Given the description of an element on the screen output the (x, y) to click on. 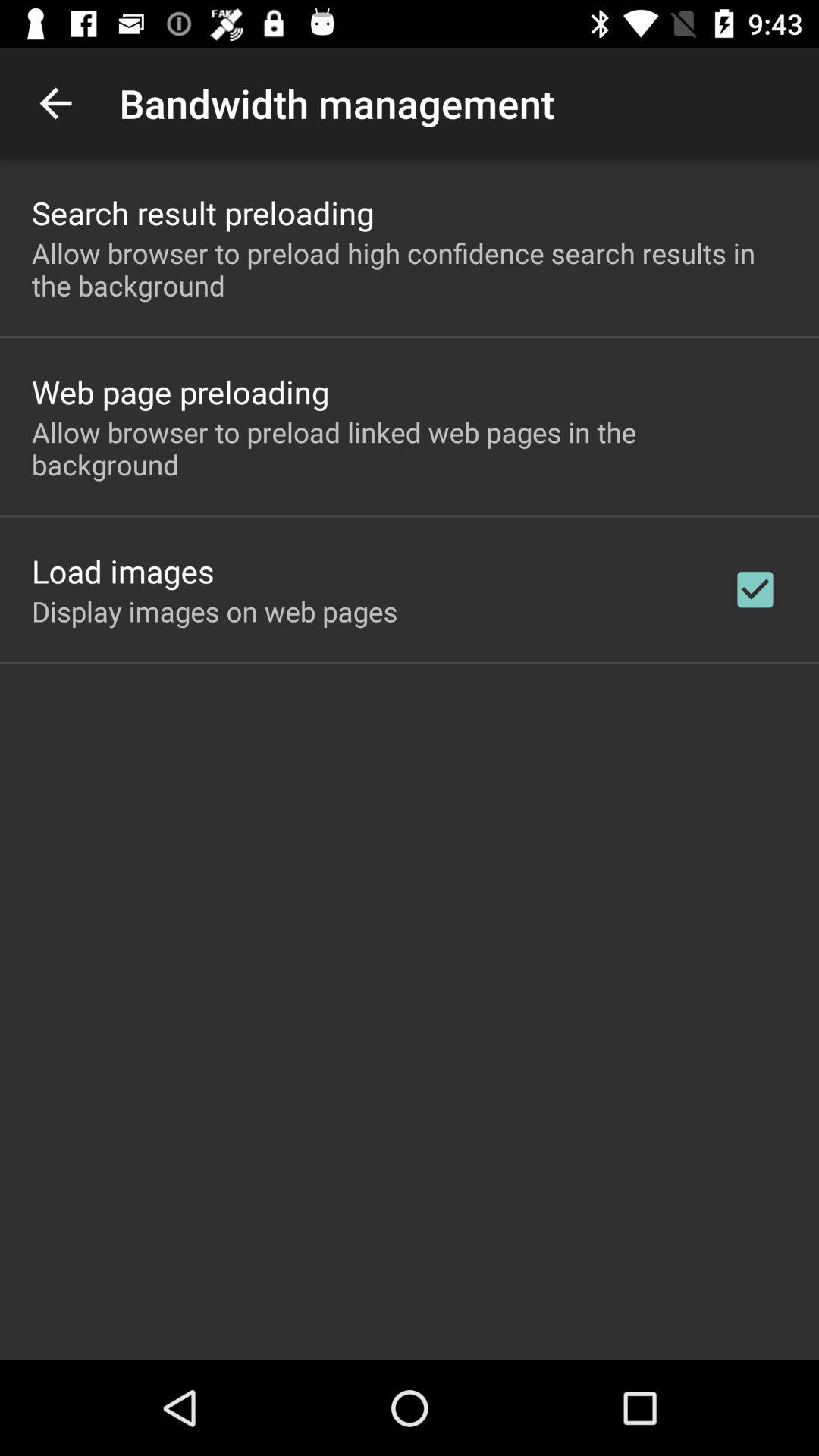
choose app to the right of display images on (755, 589)
